Given the description of an element on the screen output the (x, y) to click on. 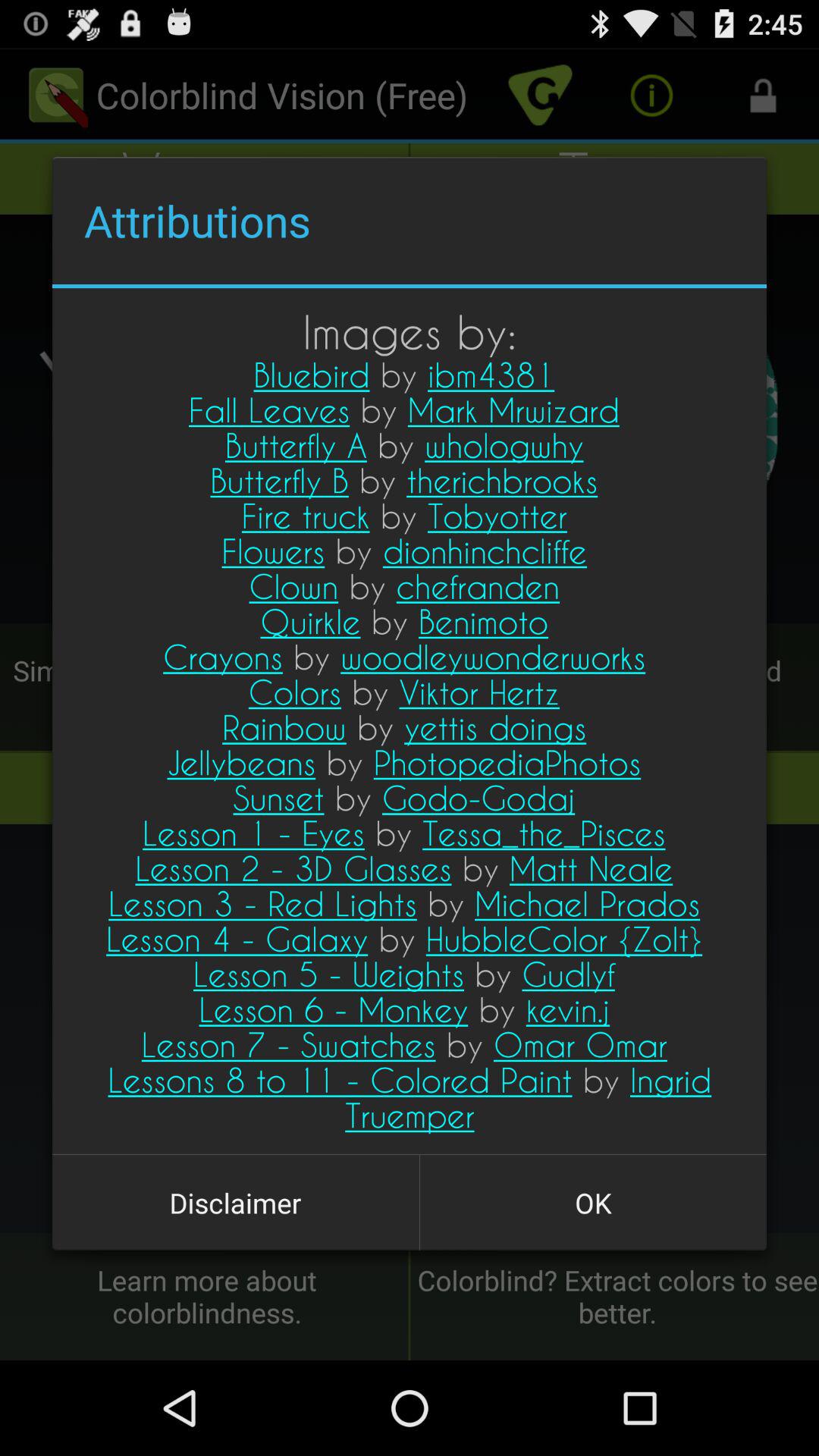
press the icon to the left of ok button (235, 1202)
